Given the description of an element on the screen output the (x, y) to click on. 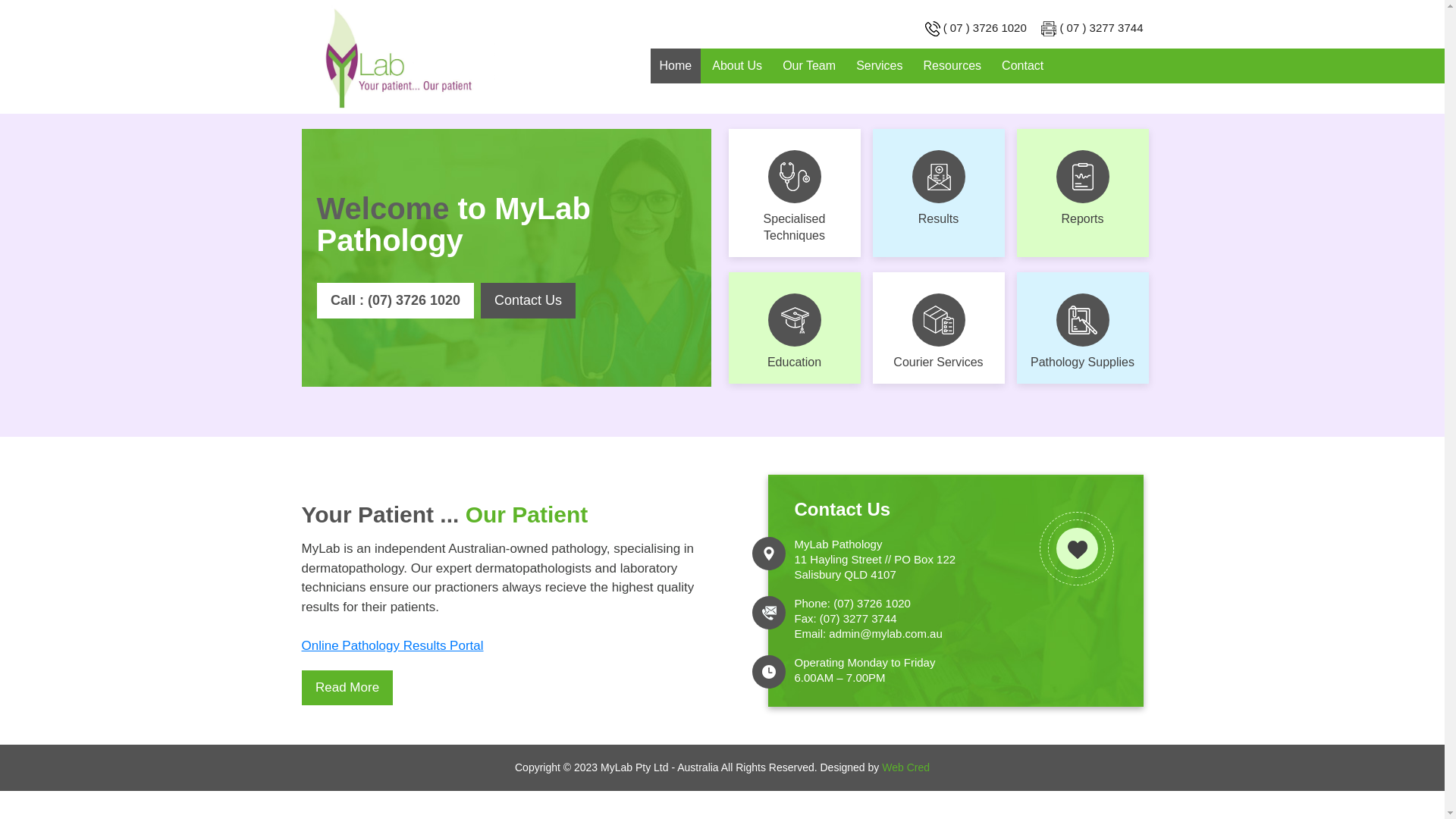
Education Element type: text (793, 327)
Online Pathology Results Portal Element type: text (392, 645)
Call : (07) 3726 1020 Element type: text (394, 300)
( 07 ) 3726 1020 Element type: text (984, 27)
Web Cred Element type: text (905, 767)
Reports Element type: text (1082, 192)
Read More Element type: text (346, 687)
Home Element type: text (675, 65)
Skip to content Element type: text (658, 47)
Contact Us Element type: text (527, 300)
Services Element type: text (879, 65)
Resources Element type: text (952, 65)
Courier Services Element type: text (938, 327)
Pathology Supplies Element type: text (1082, 327)
Contact Element type: text (1022, 65)
About Us Element type: text (736, 65)
Our Team Element type: text (808, 65)
Specialised Techniques Element type: text (793, 192)
(07) 3726 1020 Element type: text (871, 602)
admin@mylab.com.au Element type: text (884, 633)
Results Element type: text (938, 192)
